Given the description of an element on the screen output the (x, y) to click on. 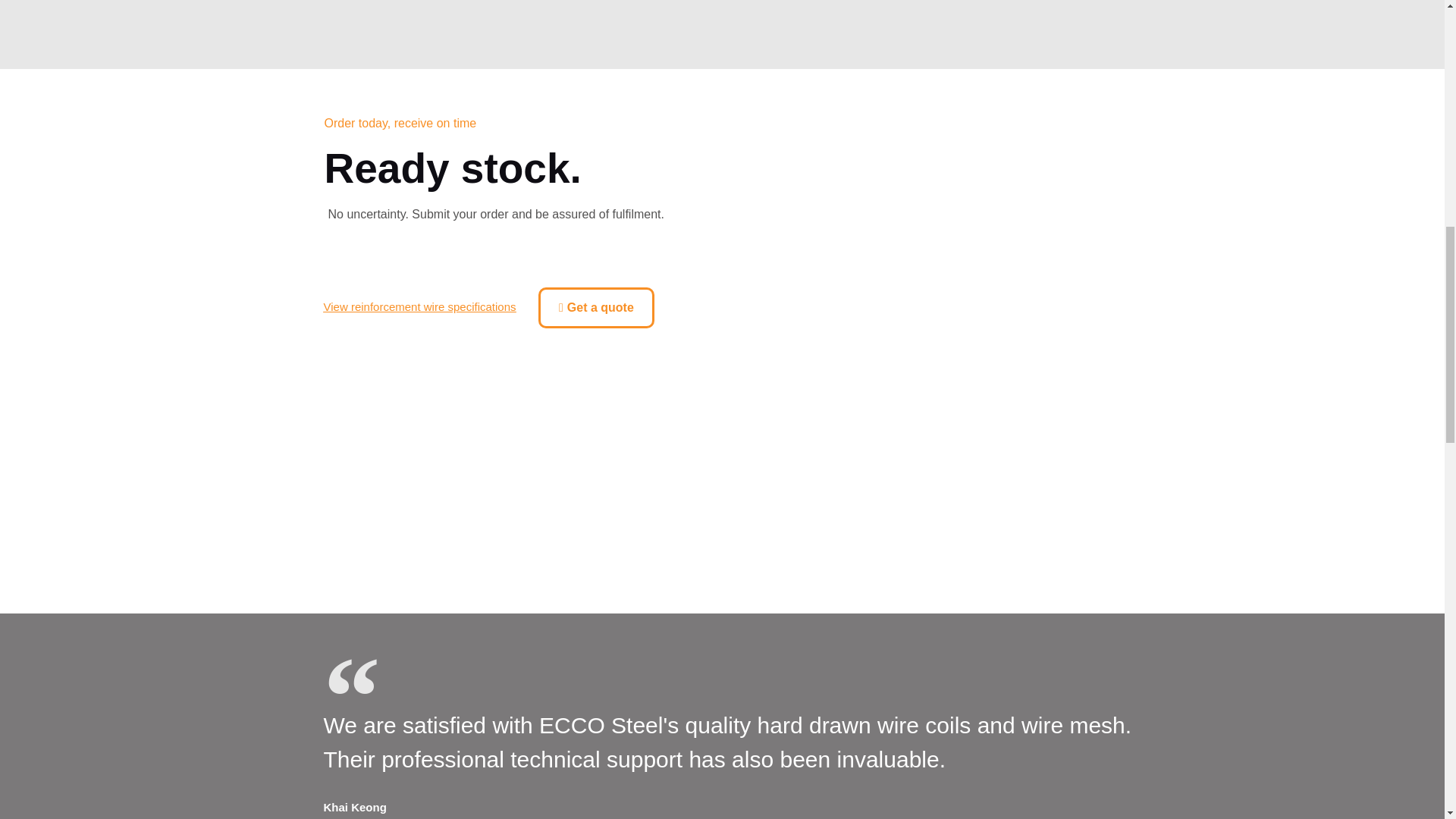
Get a quote (595, 307)
View reinforcement wire specifications (419, 306)
